Given the description of an element on the screen output the (x, y) to click on. 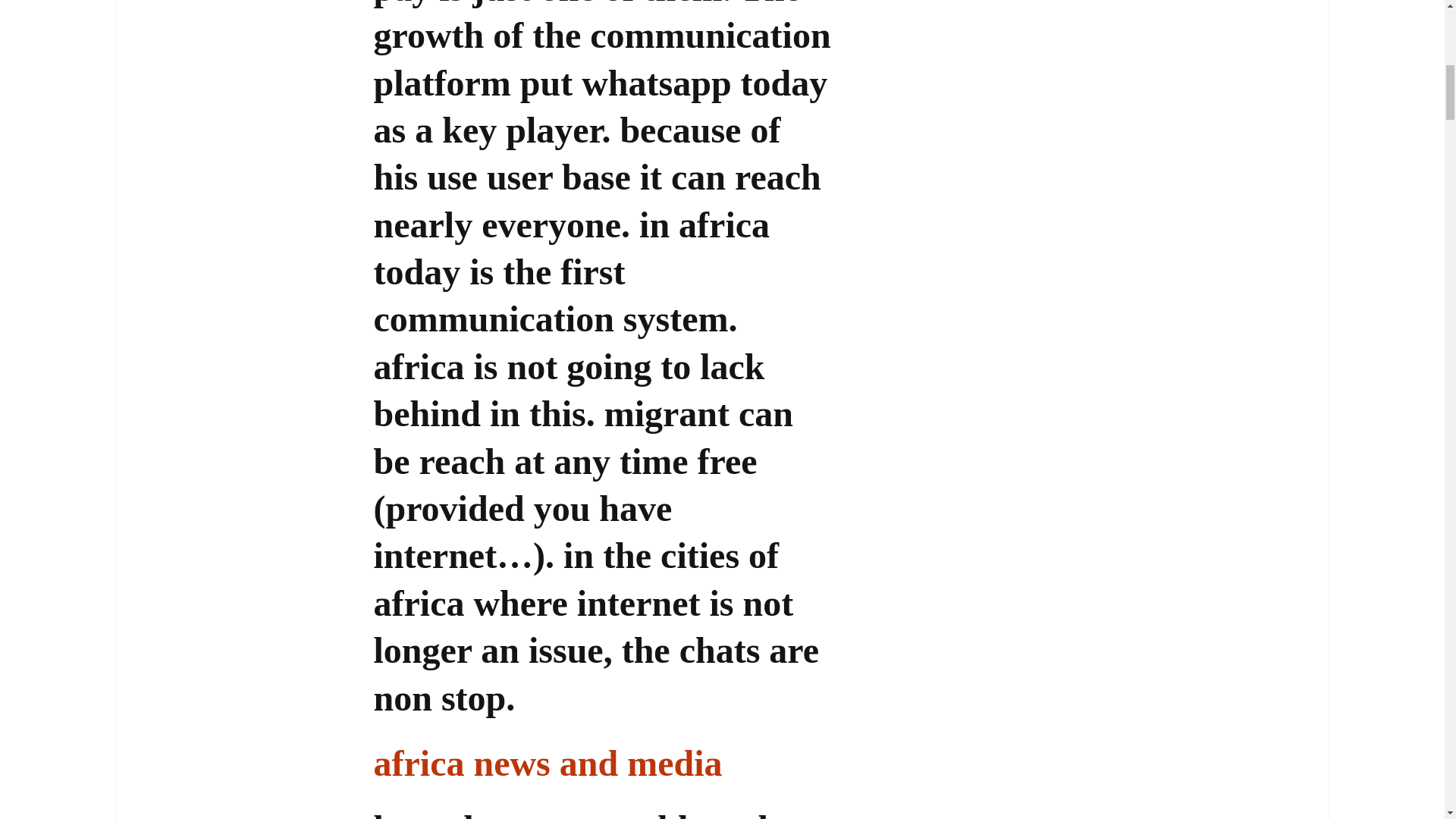
africa news and media (547, 762)
